Given the description of an element on the screen output the (x, y) to click on. 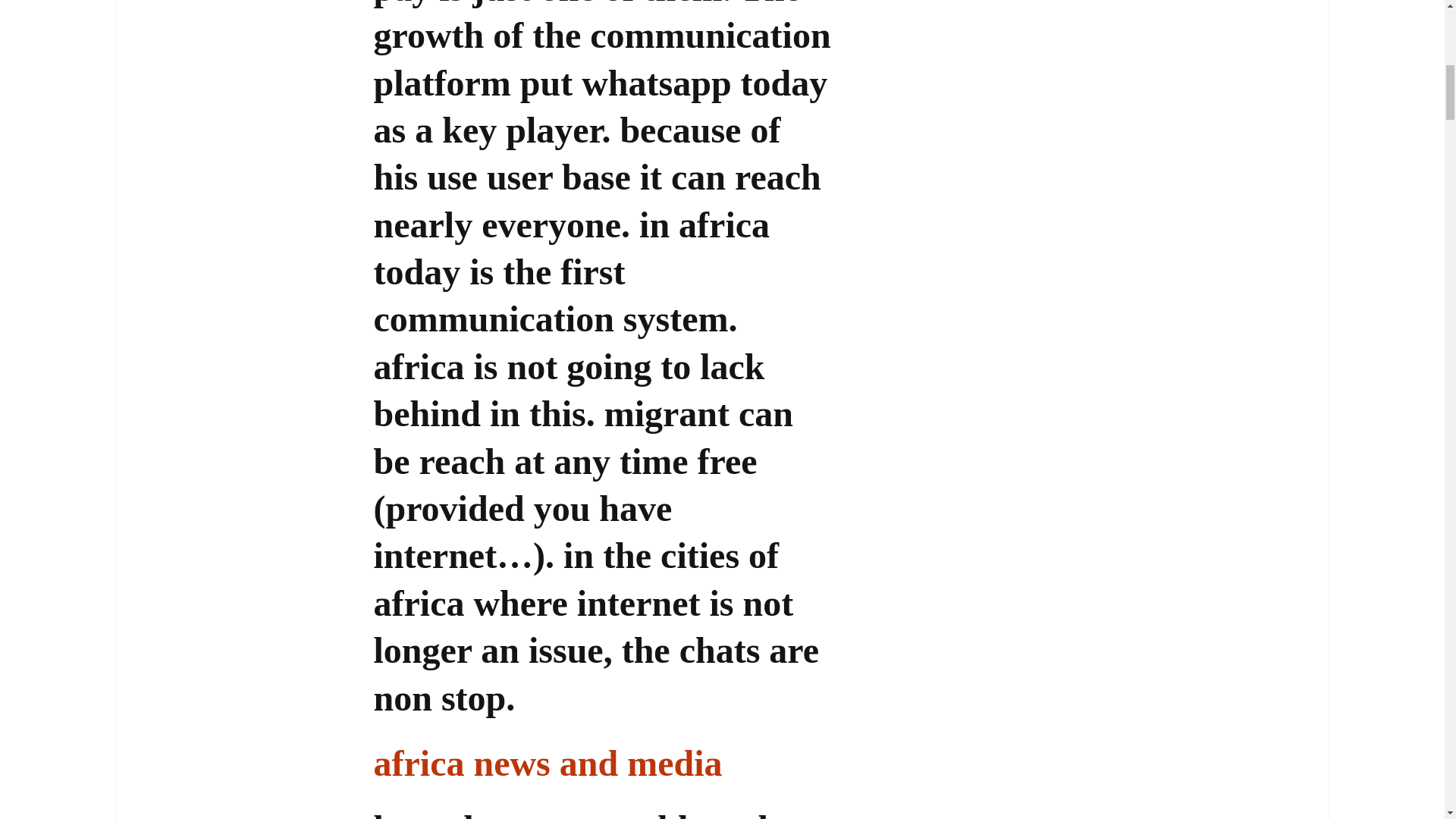
africa news and media (547, 762)
